Given the description of an element on the screen output the (x, y) to click on. 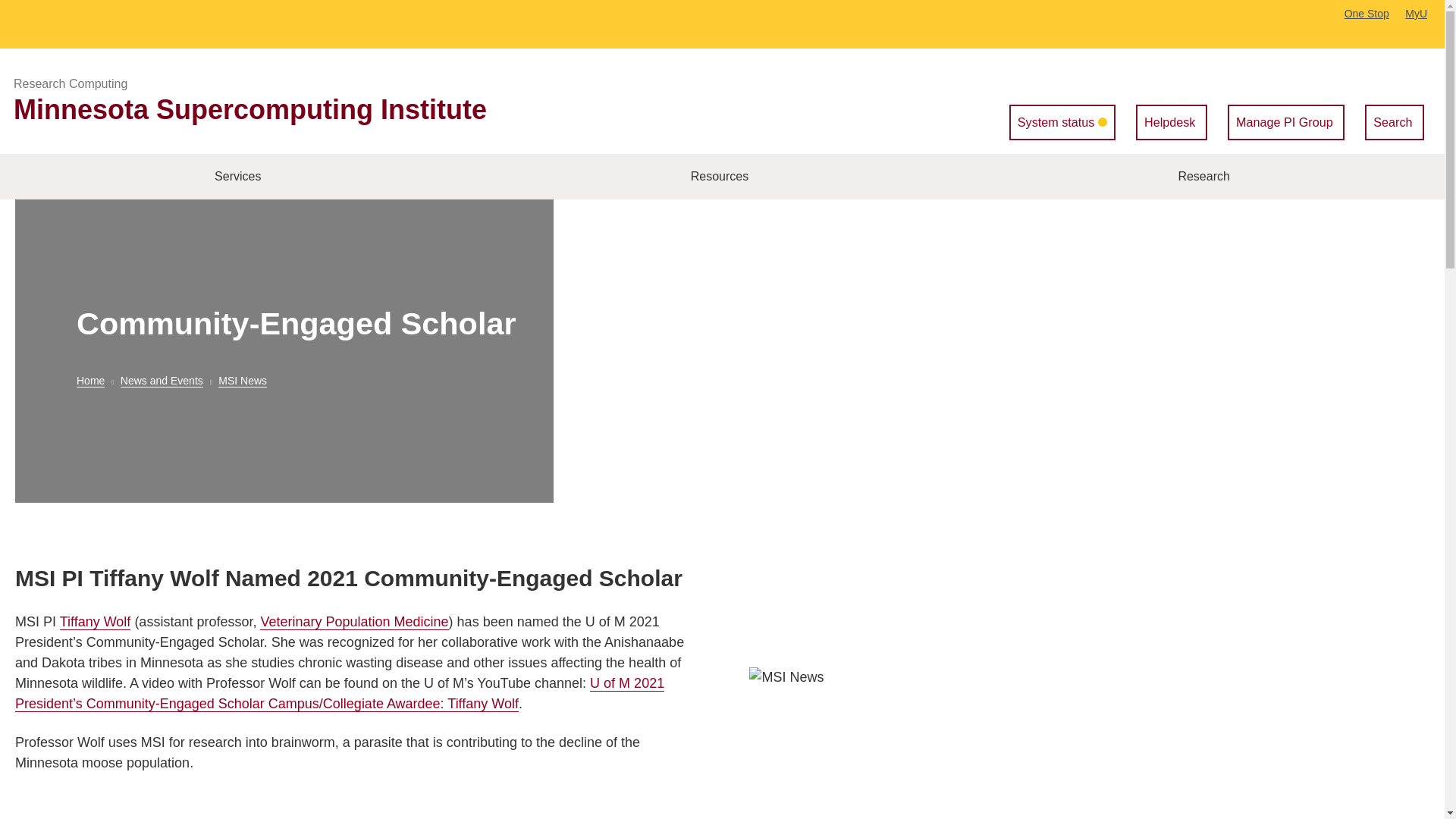
Manage PI Group  (1285, 121)
Services (238, 176)
Minnesota Supercomputing Institute (249, 109)
One Stop (1366, 13)
Resources (719, 176)
Helpdesk  (1171, 121)
Research Computing (70, 83)
MyU (1421, 13)
System status (1062, 121)
Search  (1394, 121)
